Given the description of an element on the screen output the (x, y) to click on. 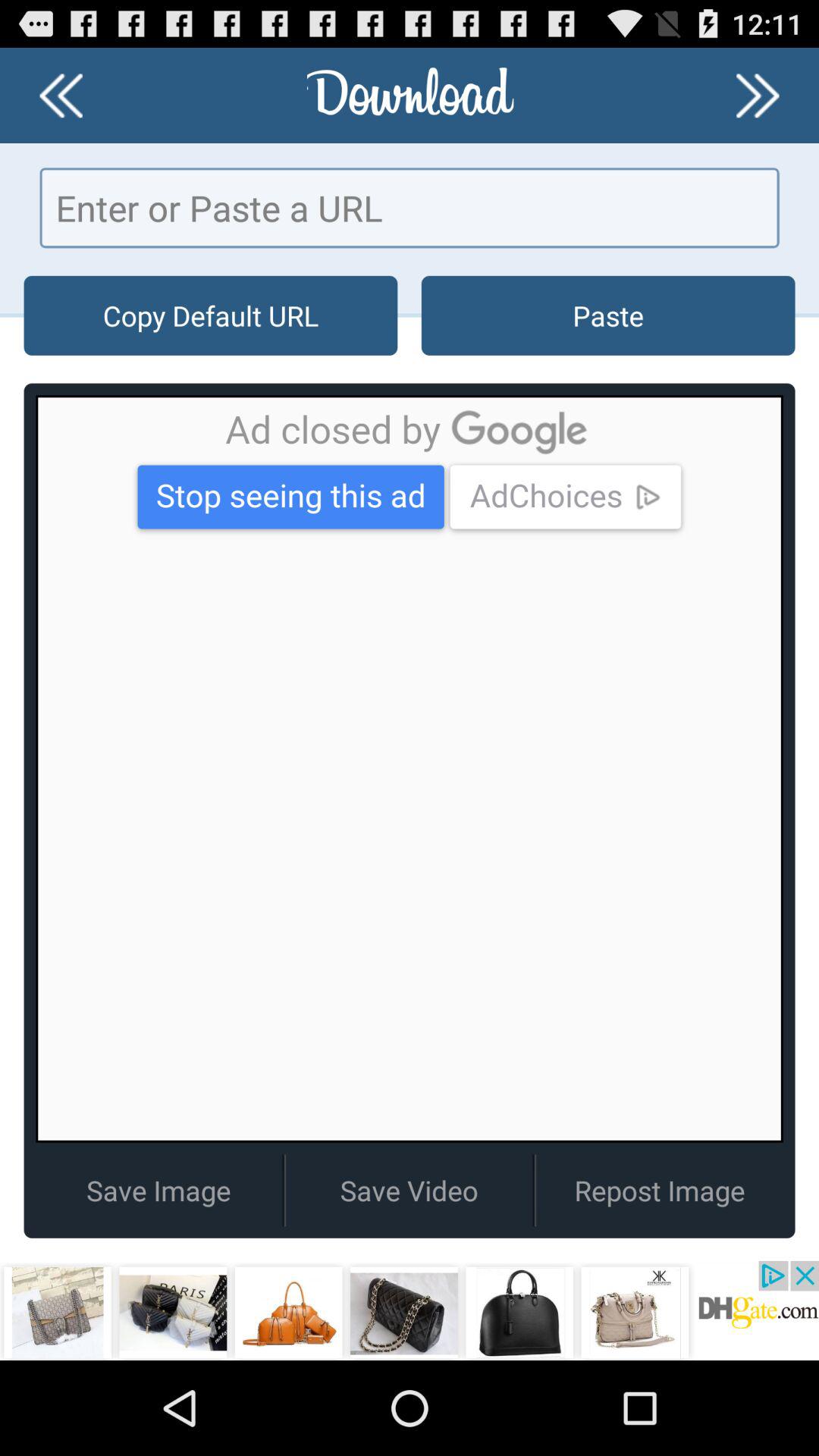
search a website (409, 207)
